Given the description of an element on the screen output the (x, y) to click on. 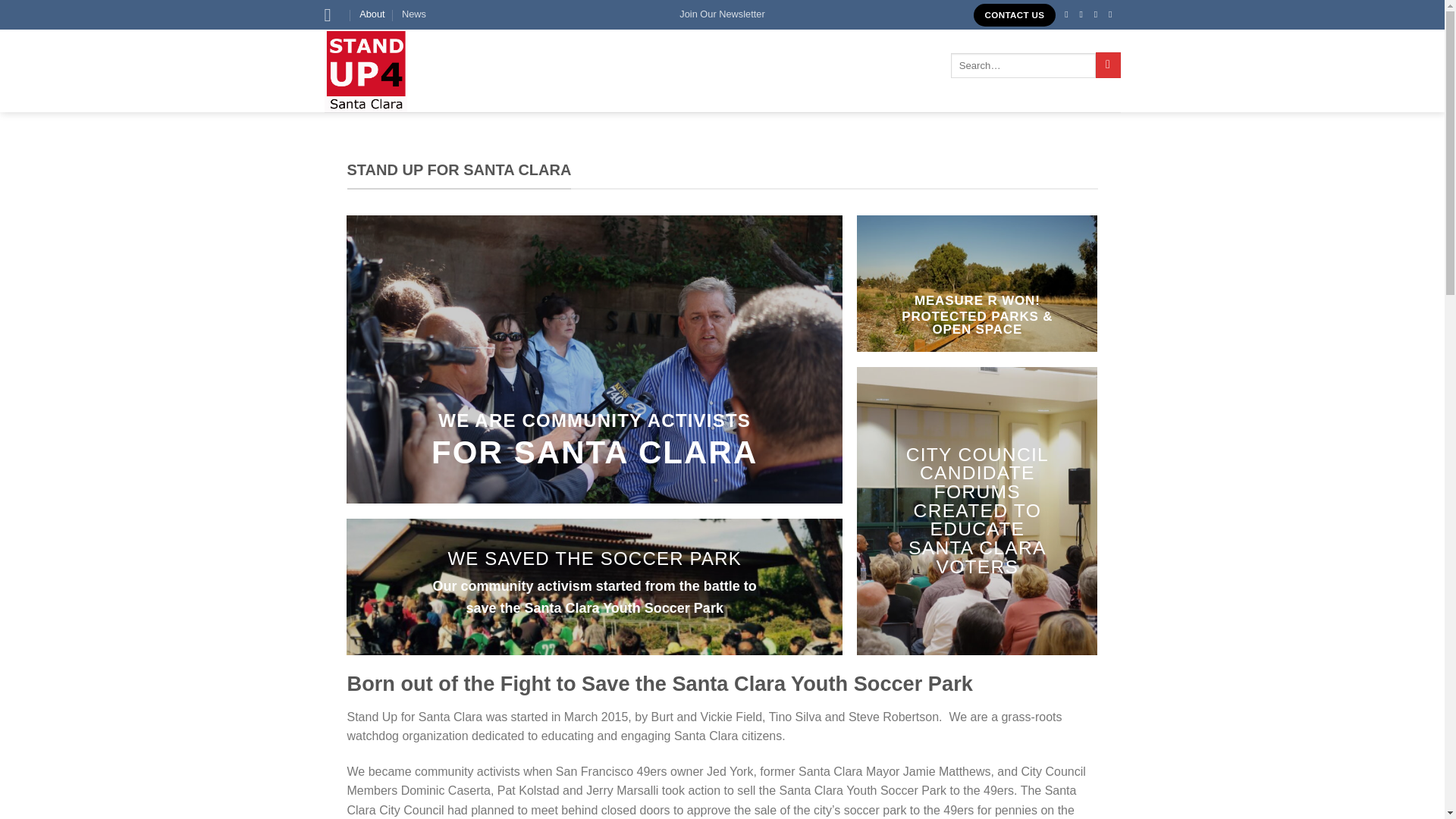
CONTACT US (1015, 15)
Stand Up for Santa Clara (391, 70)
Sign up for Newsletter (721, 14)
News (413, 14)
About (371, 14)
Join Our Newsletter (721, 14)
